Given the description of an element on the screen output the (x, y) to click on. 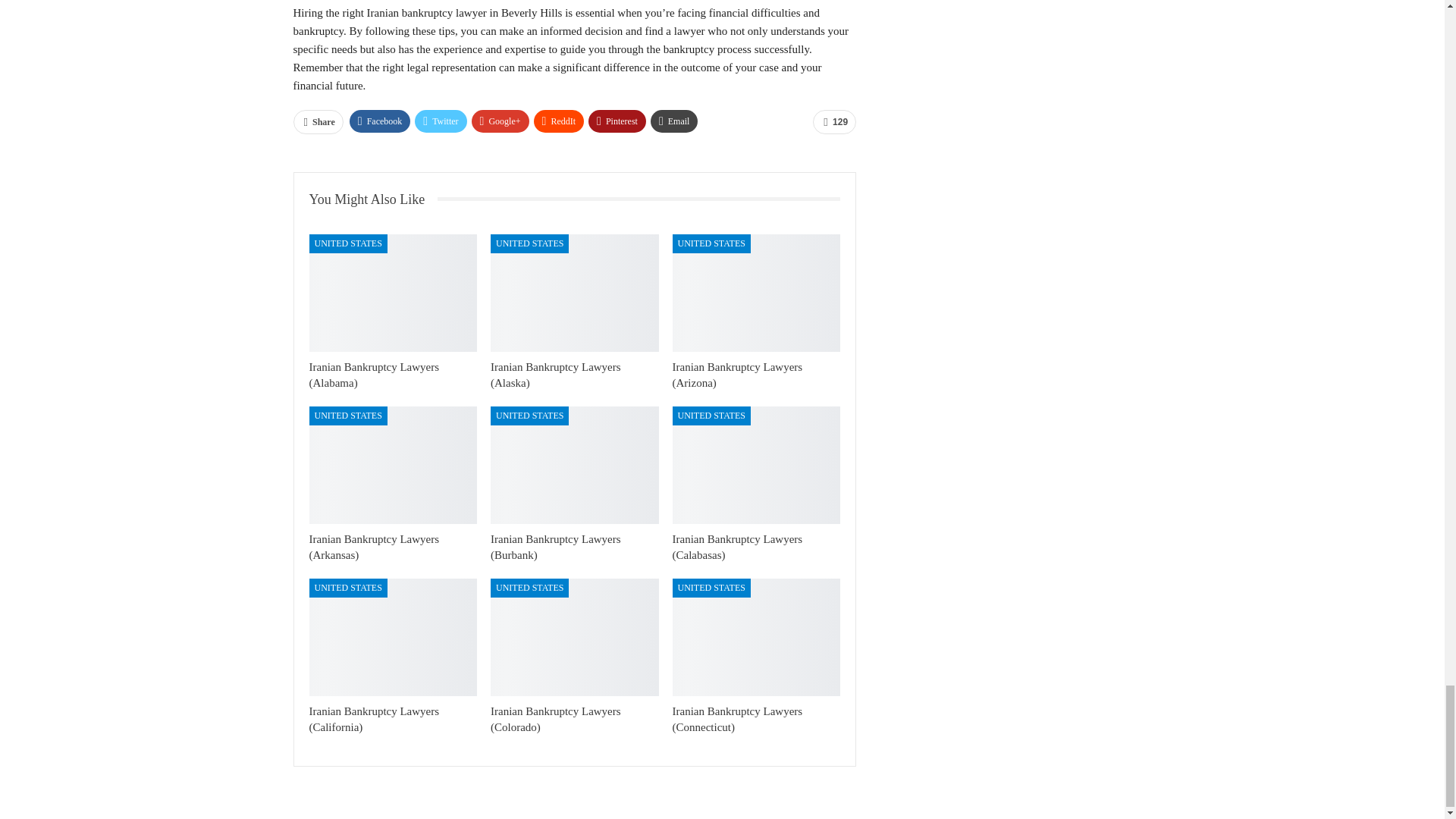
UNITED STATES (347, 243)
Email (674, 120)
UNITED STATES (529, 243)
Twitter (439, 120)
UNITED STATES (711, 243)
ReddIt (559, 120)
Facebook (379, 120)
UNITED STATES (347, 415)
Pinterest (617, 120)
